Given the description of an element on the screen output the (x, y) to click on. 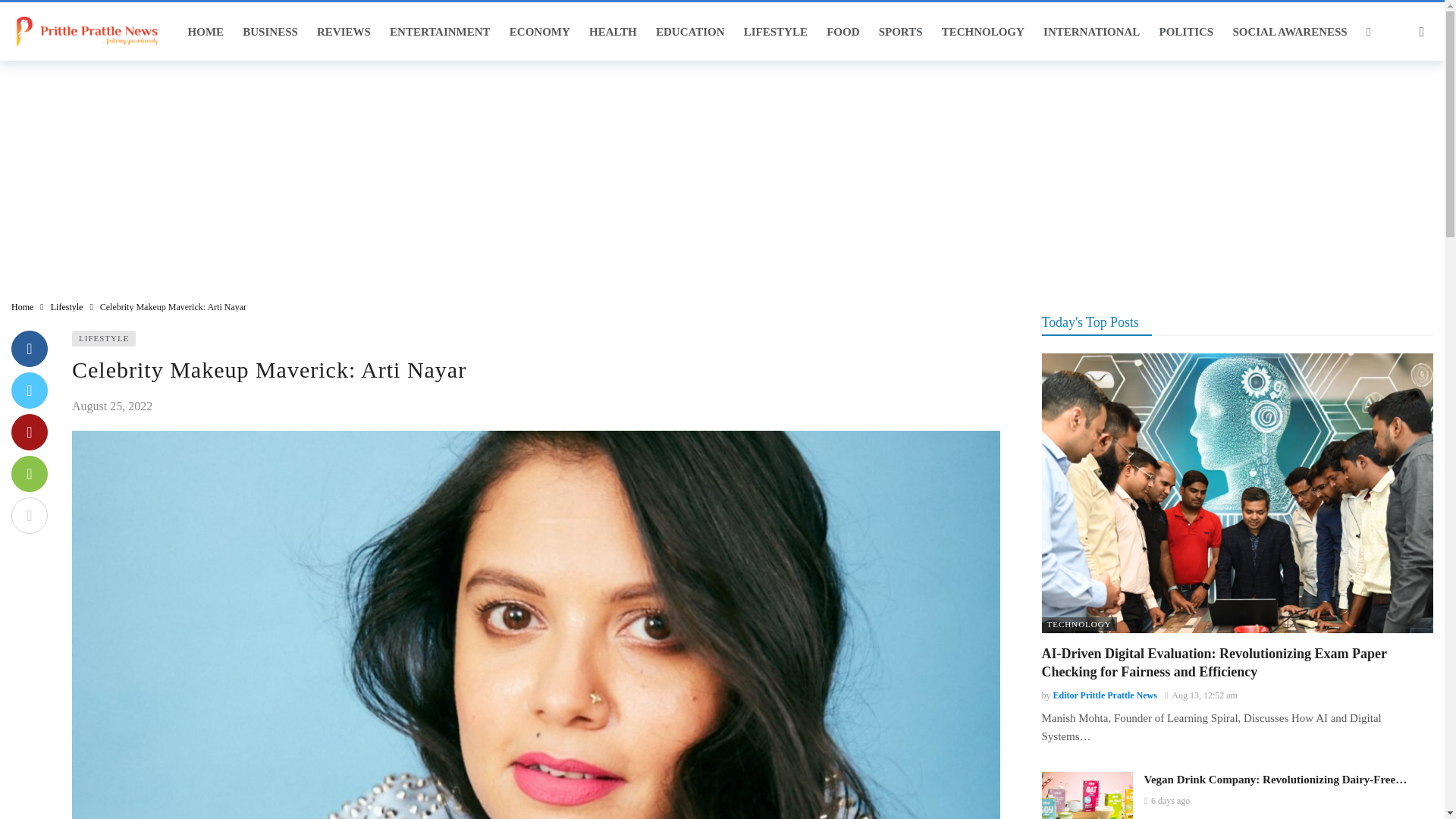
SOCIAL AWARENESS (1289, 31)
ECONOMY (539, 31)
TECHNOLOGY (982, 31)
ENTERTAINMENT (439, 31)
REVIEWS (343, 31)
LIFESTYLE (775, 31)
HEALTH (612, 31)
POLITICS (1186, 31)
